Given the description of an element on the screen output the (x, y) to click on. 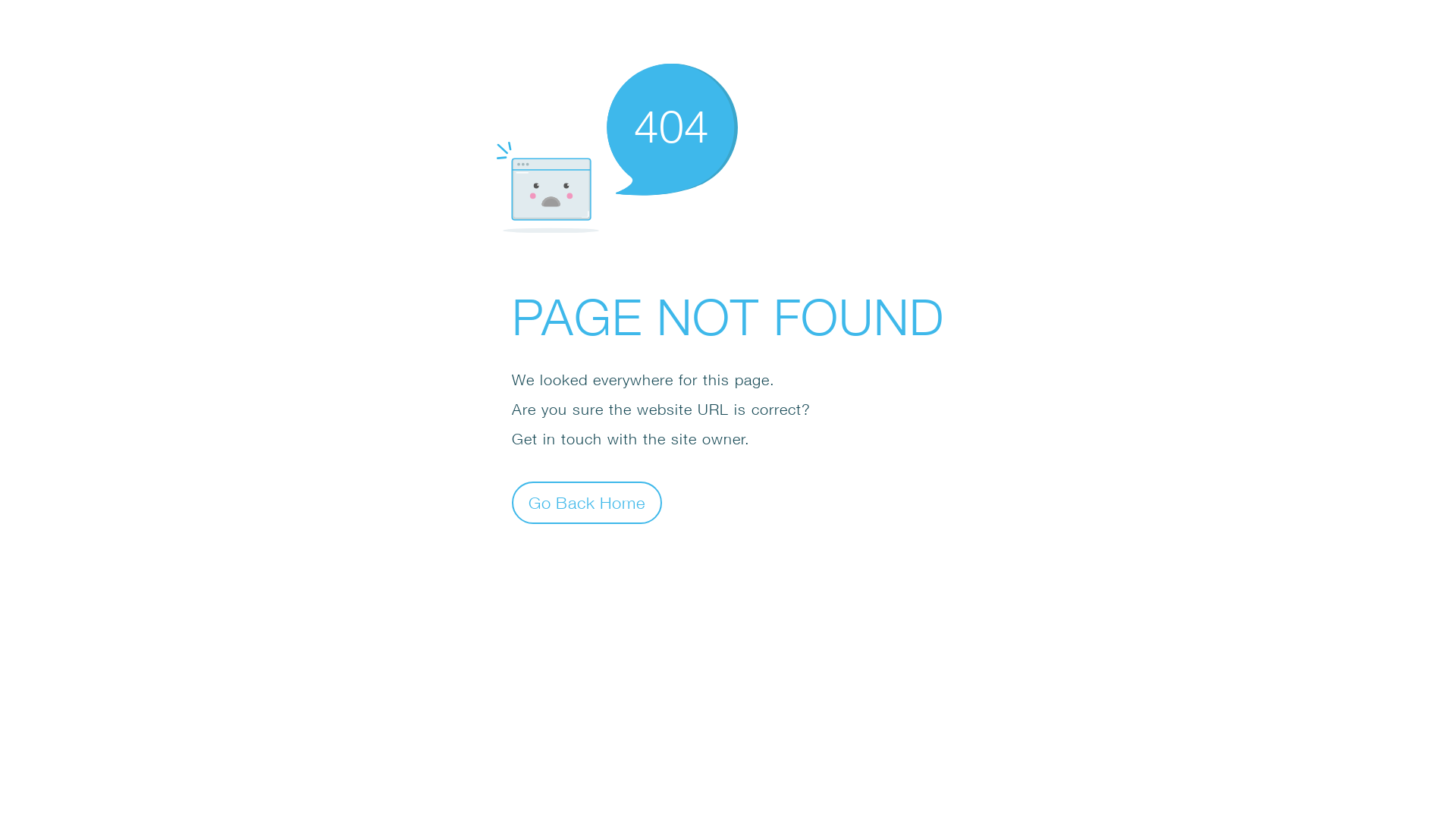
Go Back Home Element type: text (586, 502)
